Given the description of an element on the screen output the (x, y) to click on. 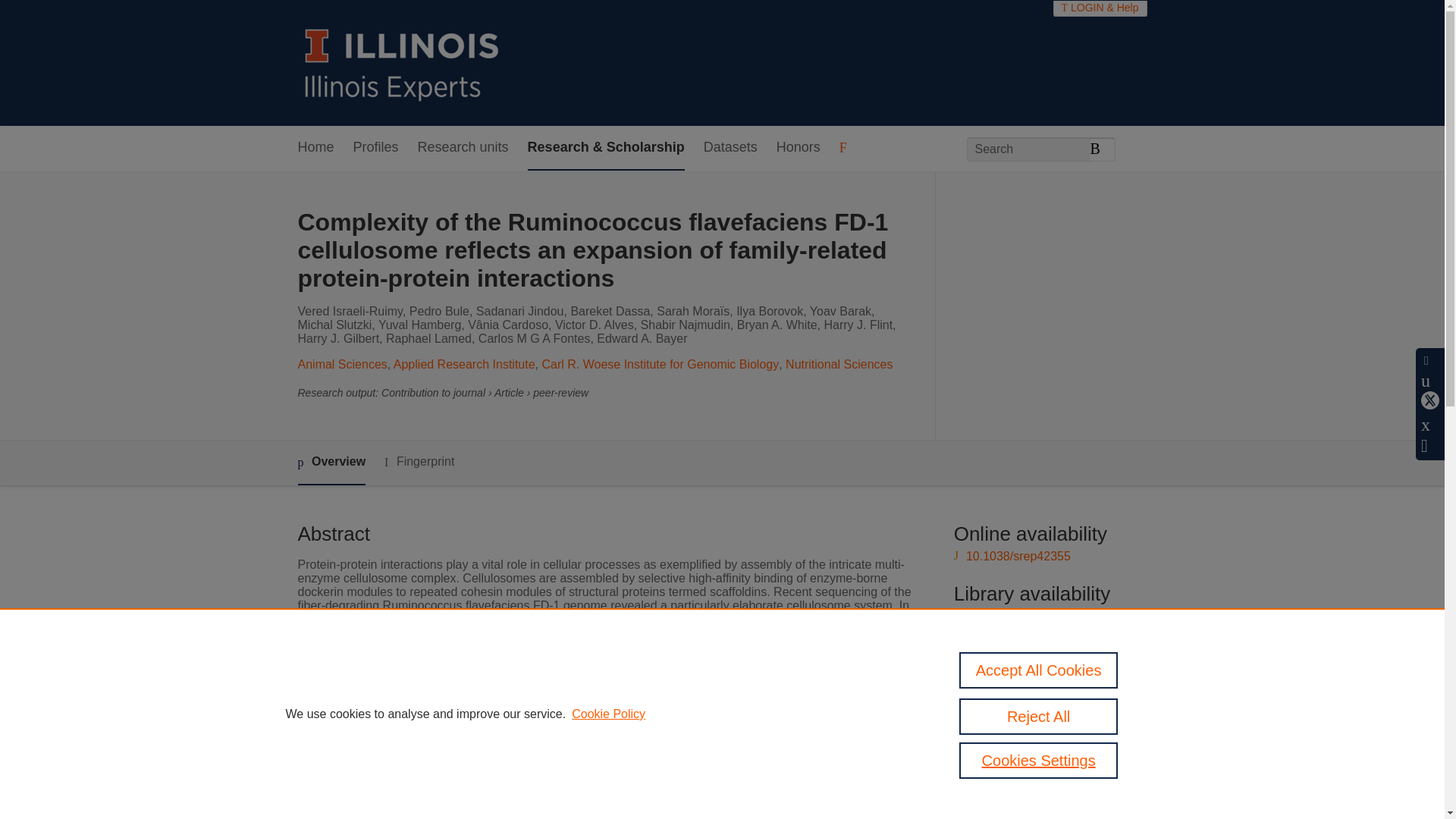
Datasets (730, 148)
Link to the citations in Scopus (1048, 693)
Nutritional Sciences (839, 364)
Honors (798, 148)
Animal Sciences (342, 364)
Research units (462, 148)
Applied Research Institute (464, 364)
Fingerprint (419, 462)
University of Illinois Urbana-Champaign Home (402, 62)
Overview (331, 462)
